Given the description of an element on the screen output the (x, y) to click on. 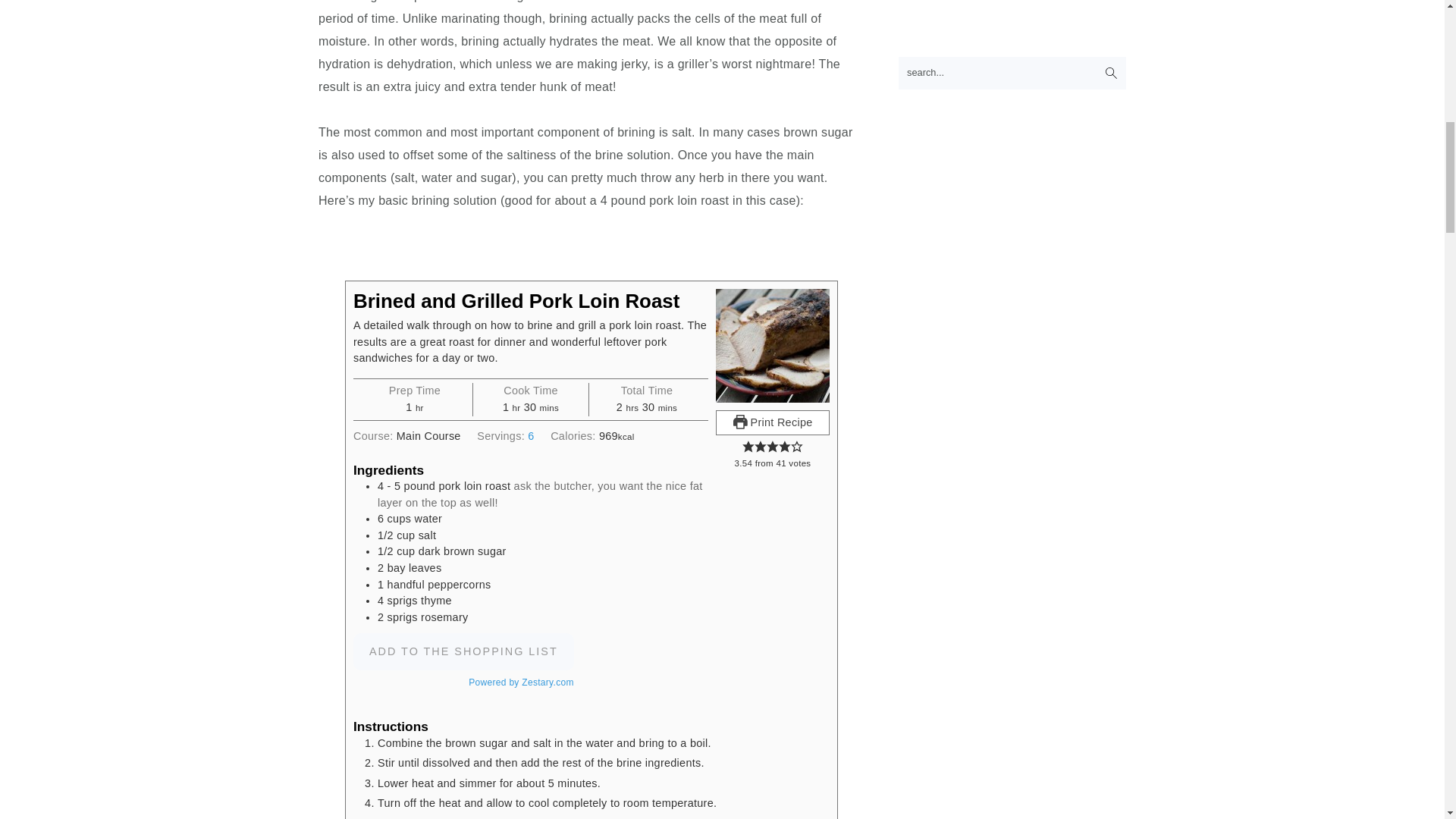
Powered by Zestary.com (520, 682)
ADD TO THE SHOPPING LIST (463, 651)
Powered by Zestary.com (520, 682)
Print Recipe (772, 422)
